Given the description of an element on the screen output the (x, y) to click on. 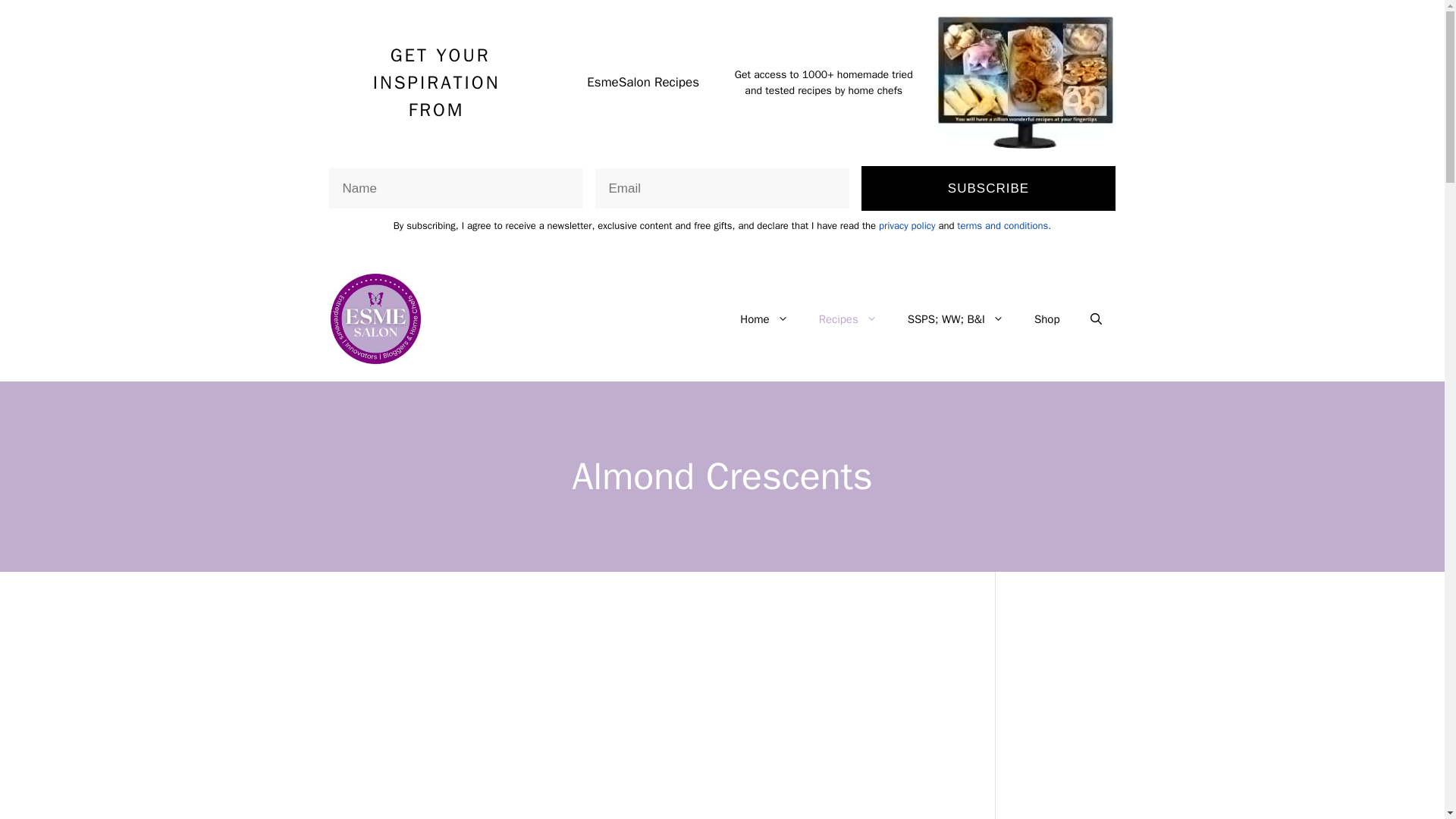
esmesalonTVscreen (1026, 82)
terms and conditions. (1003, 225)
SUBSCRIBE (988, 188)
Home (764, 319)
Recipes (847, 319)
privacy policy (907, 225)
